Given the description of an element on the screen output the (x, y) to click on. 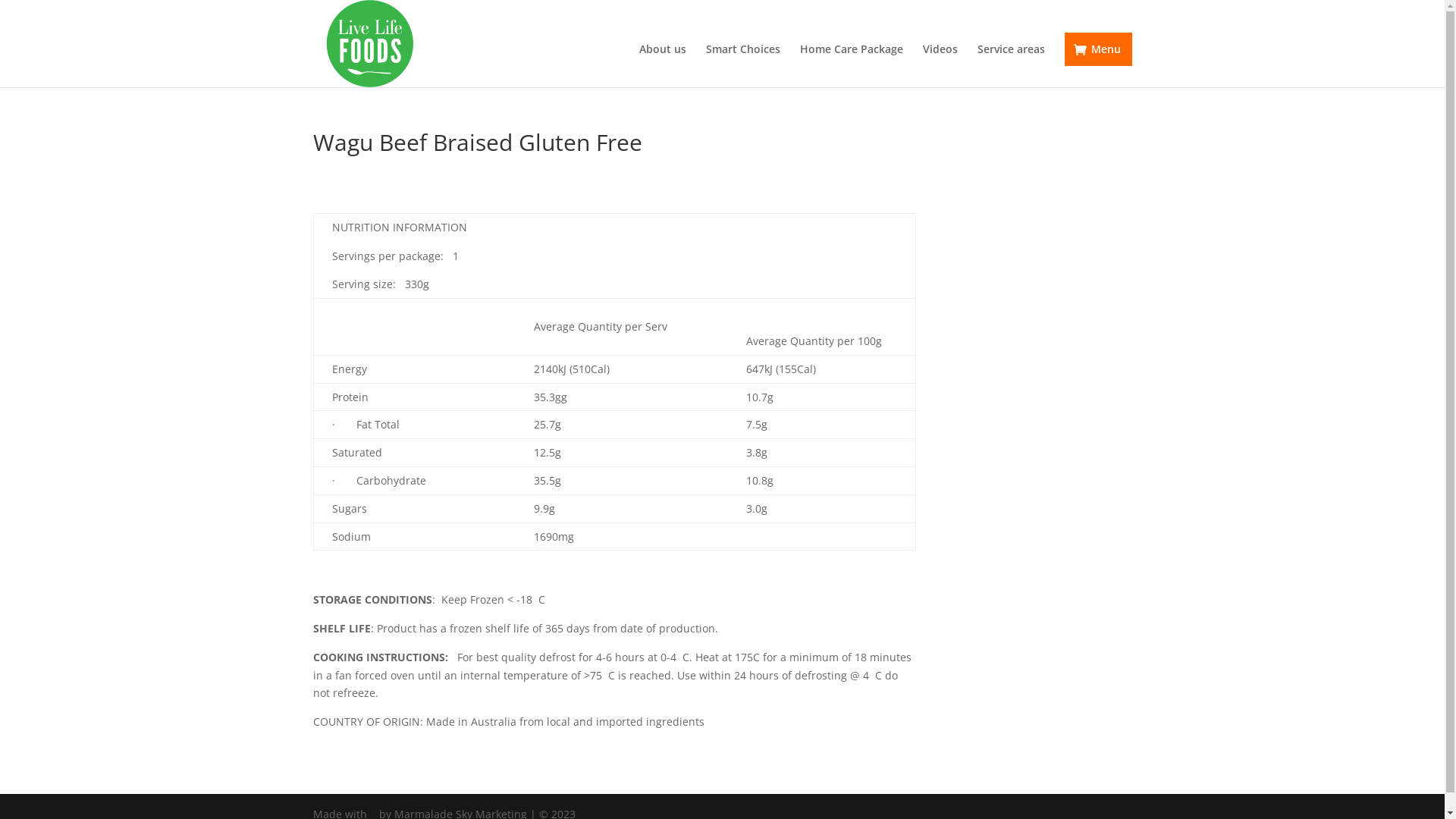
Service areas Element type: text (1010, 65)
About us Element type: text (661, 65)
Videos Element type: text (939, 65)
Smart Choices Element type: text (742, 65)
Menu Element type: text (1098, 48)
Home Care Package Element type: text (850, 65)
